Given the description of an element on the screen output the (x, y) to click on. 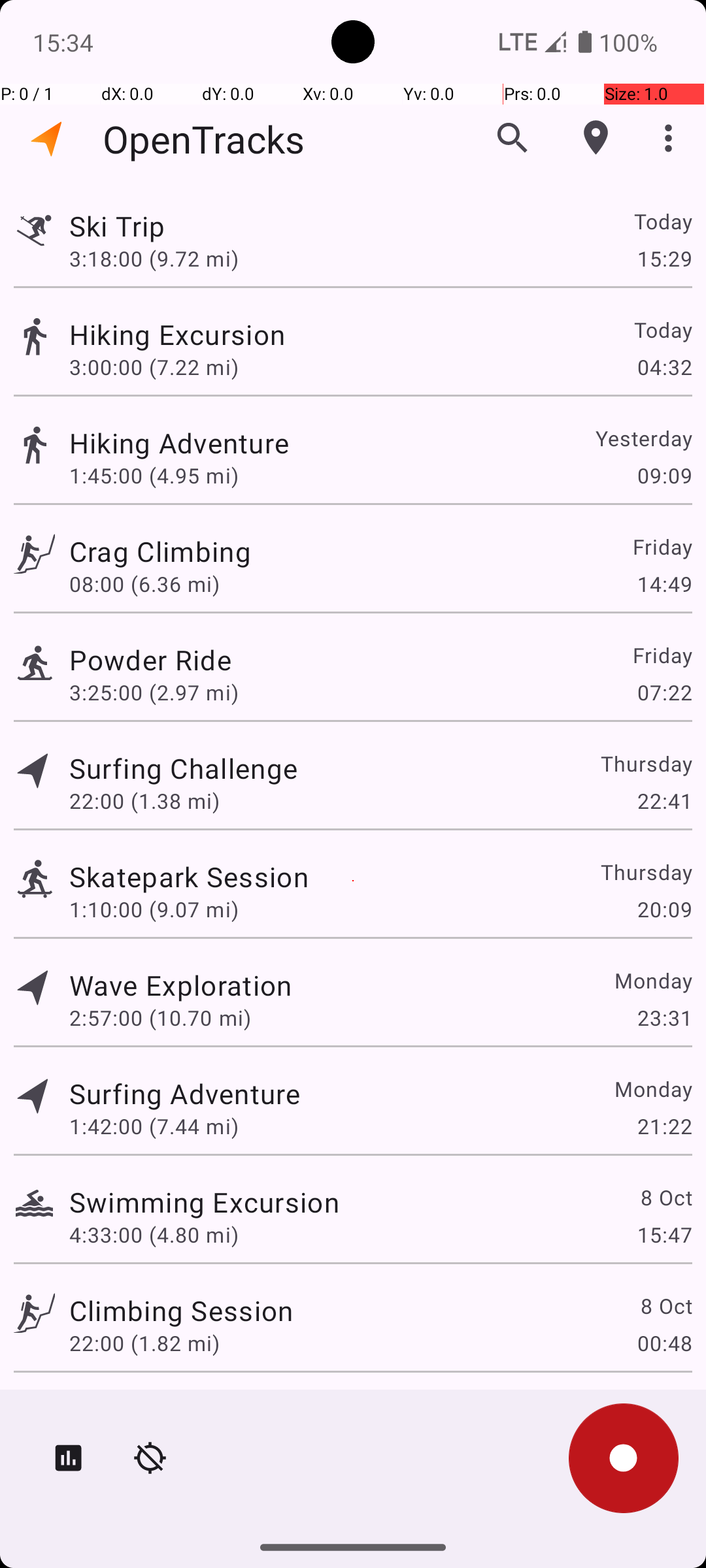
Ski Trip Element type: android.widget.TextView (180, 225)
3:18:00 (9.72 mi) Element type: android.widget.TextView (159, 258)
15:29 Element type: android.widget.TextView (664, 258)
Hiking Excursion Element type: android.widget.TextView (184, 333)
3:00:00 (7.22 mi) Element type: android.widget.TextView (153, 366)
04:32 Element type: android.widget.TextView (664, 366)
Hiking Adventure Element type: android.widget.TextView (203, 442)
1:45:00 (4.95 mi) Element type: android.widget.TextView (153, 475)
09:09 Element type: android.widget.TextView (664, 475)
Crag Climbing Element type: android.widget.TextView (180, 550)
08:00 (6.36 mi) Element type: android.widget.TextView (144, 583)
14:49 Element type: android.widget.TextView (664, 583)
Powder Ride Element type: android.widget.TextView (185, 659)
3:25:00 (2.97 mi) Element type: android.widget.TextView (153, 692)
07:22 Element type: android.widget.TextView (664, 692)
Surfing Challenge Element type: android.widget.TextView (183, 767)
22:00 (1.38 mi) Element type: android.widget.TextView (144, 800)
22:41 Element type: android.widget.TextView (664, 800)
Skatepark Session Element type: android.widget.TextView (188, 876)
1:10:00 (9.07 mi) Element type: android.widget.TextView (153, 909)
20:09 Element type: android.widget.TextView (664, 909)
Wave Exploration Element type: android.widget.TextView (180, 984)
2:57:00 (10.70 mi) Element type: android.widget.TextView (159, 1017)
23:31 Element type: android.widget.TextView (664, 1017)
Surfing Adventure Element type: android.widget.TextView (184, 1092)
1:42:00 (7.44 mi) Element type: android.widget.TextView (153, 1125)
21:22 Element type: android.widget.TextView (664, 1125)
Swimming Excursion Element type: android.widget.TextView (203, 1201)
4:33:00 (4.80 mi) Element type: android.widget.TextView (153, 1234)
15:47 Element type: android.widget.TextView (664, 1234)
Climbing Session Element type: android.widget.TextView (180, 1309)
22:00 (1.82 mi) Element type: android.widget.TextView (144, 1342)
00:48 Element type: android.widget.TextView (664, 1342)
Rowing Adventure Element type: android.widget.TextView (185, 1408)
